Given the description of an element on the screen output the (x, y) to click on. 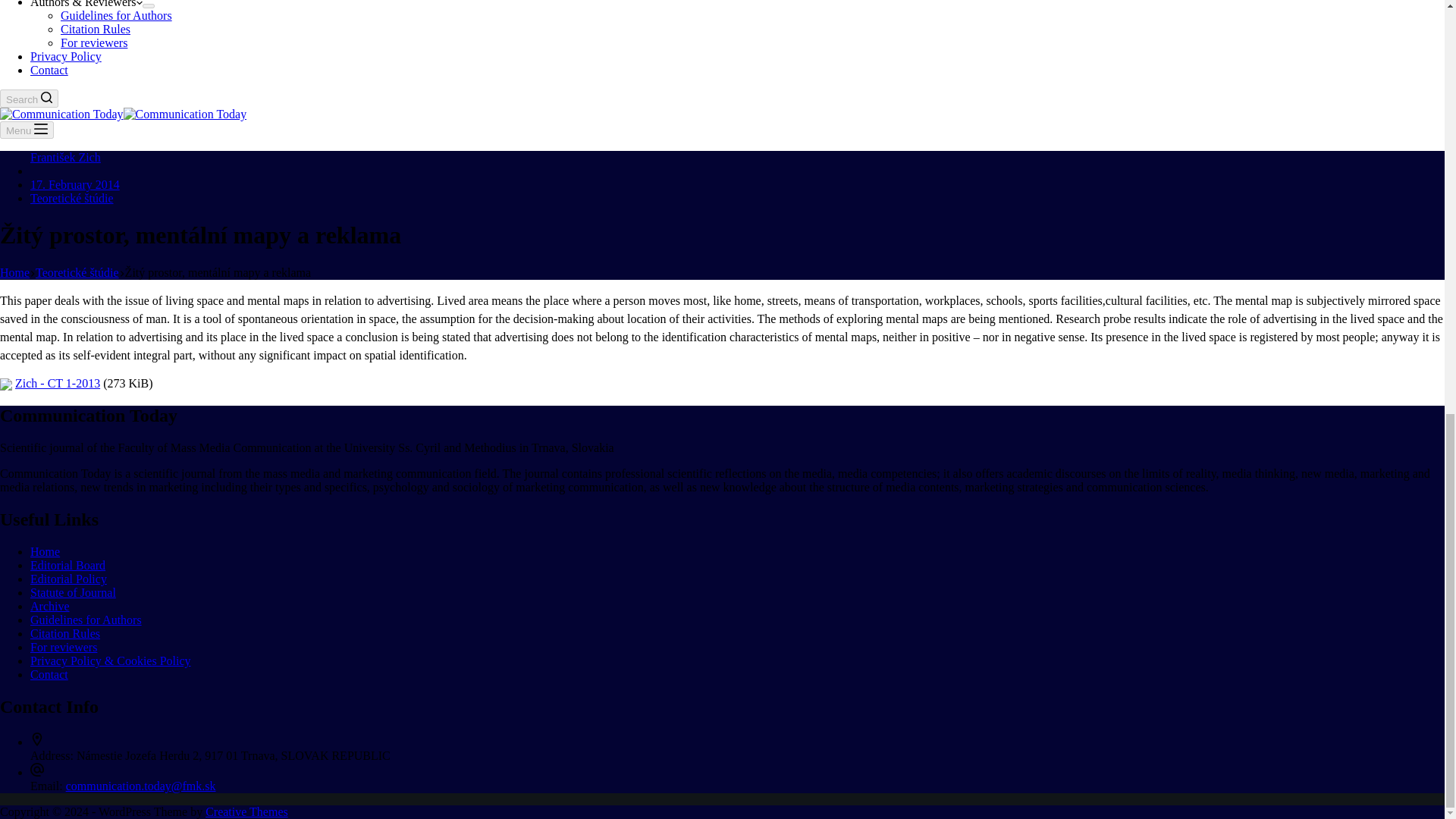
Download Zich - CT 1-2013 (57, 382)
